Given the description of an element on the screen output the (x, y) to click on. 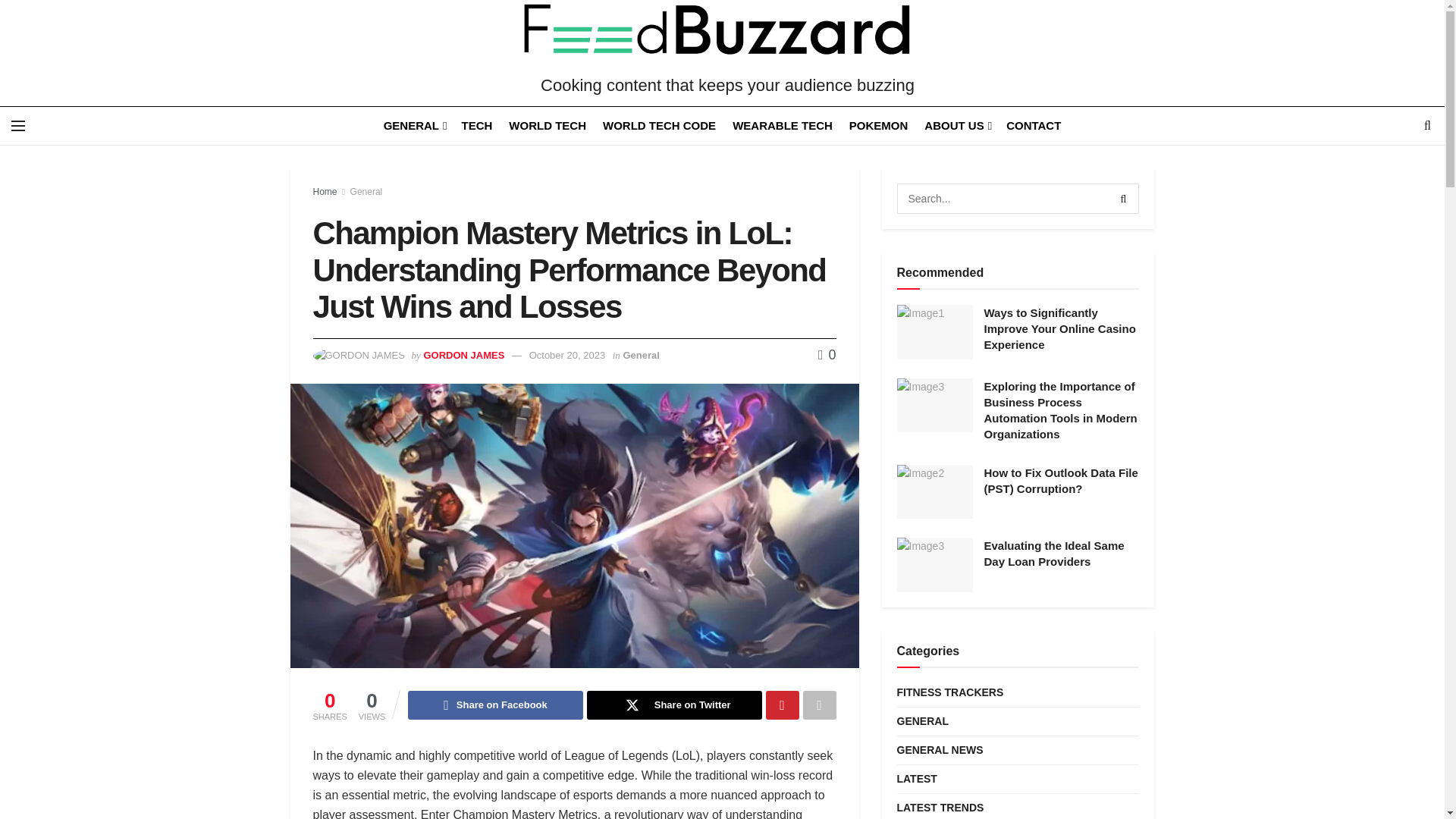
General (366, 191)
WEARABLE TECH (782, 125)
GORDON JAMES (463, 355)
CONTACT (1033, 125)
Home (324, 191)
POKEMON (878, 125)
TECH (476, 125)
WORLD TECH (547, 125)
ABOUT US (957, 125)
WORLD TECH CODE (659, 125)
